Given the description of an element on the screen output the (x, y) to click on. 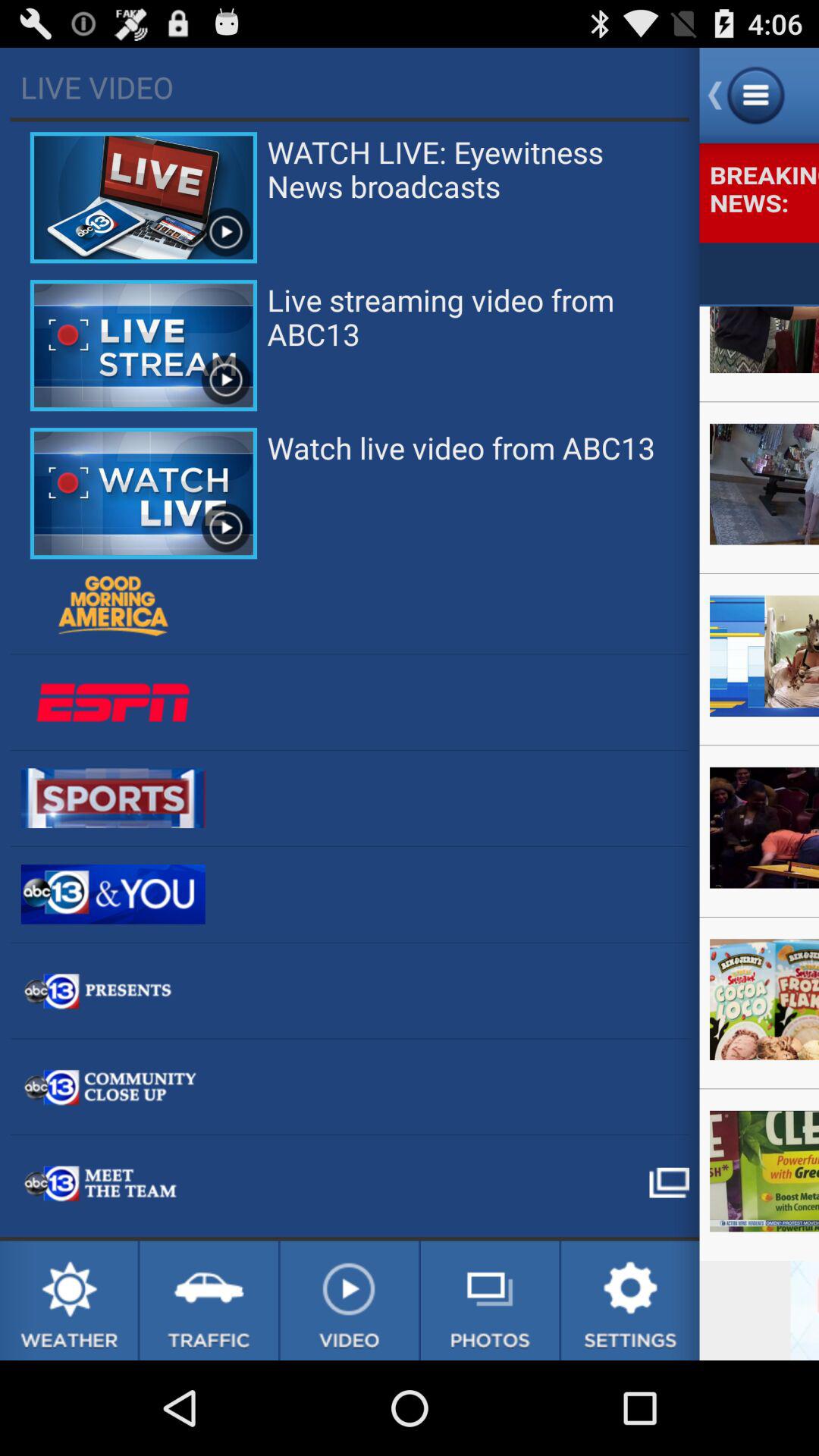
view traffic news (208, 1300)
